Given the description of an element on the screen output the (x, y) to click on. 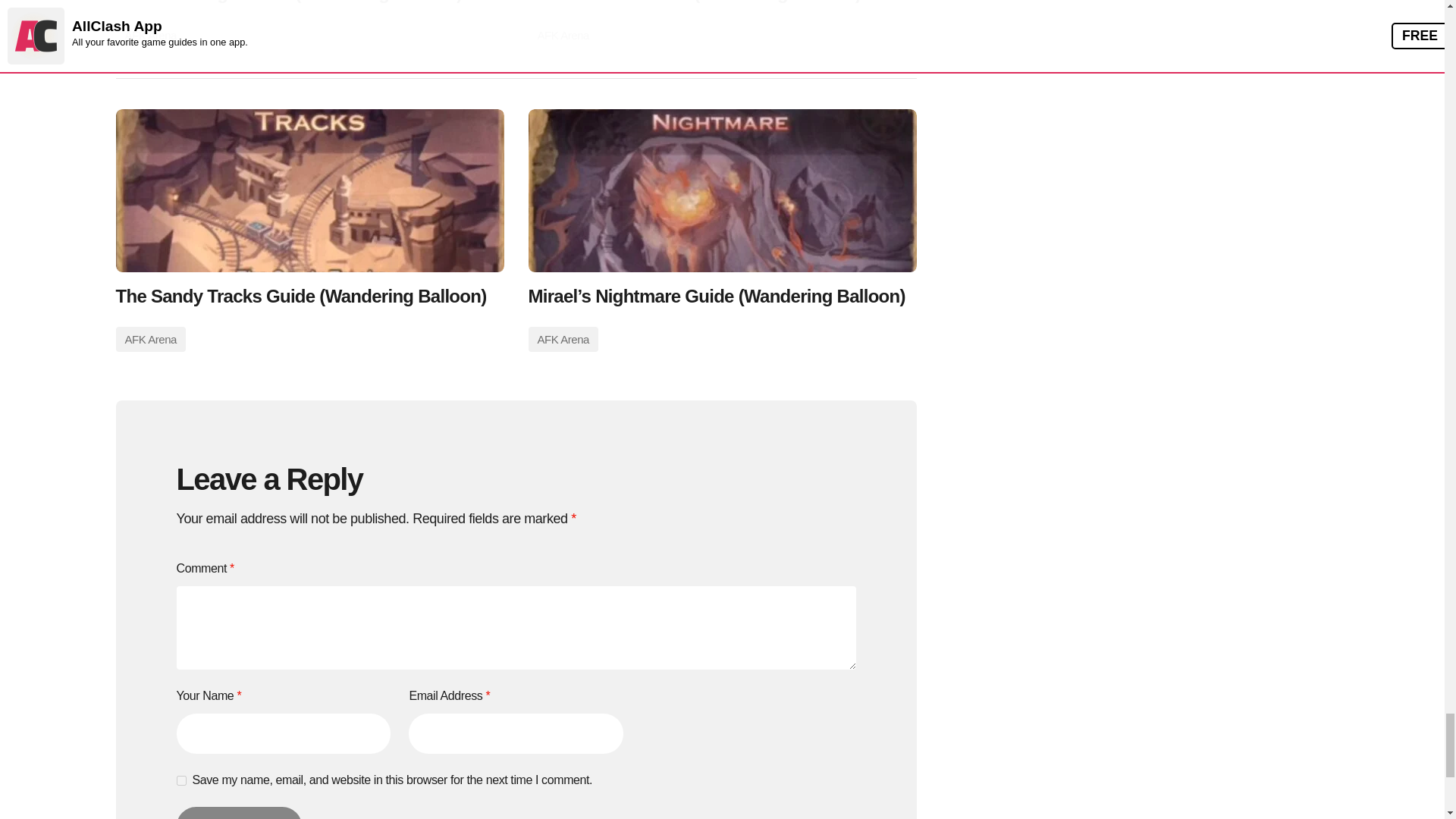
yes (181, 780)
